Given the description of an element on the screen output the (x, y) to click on. 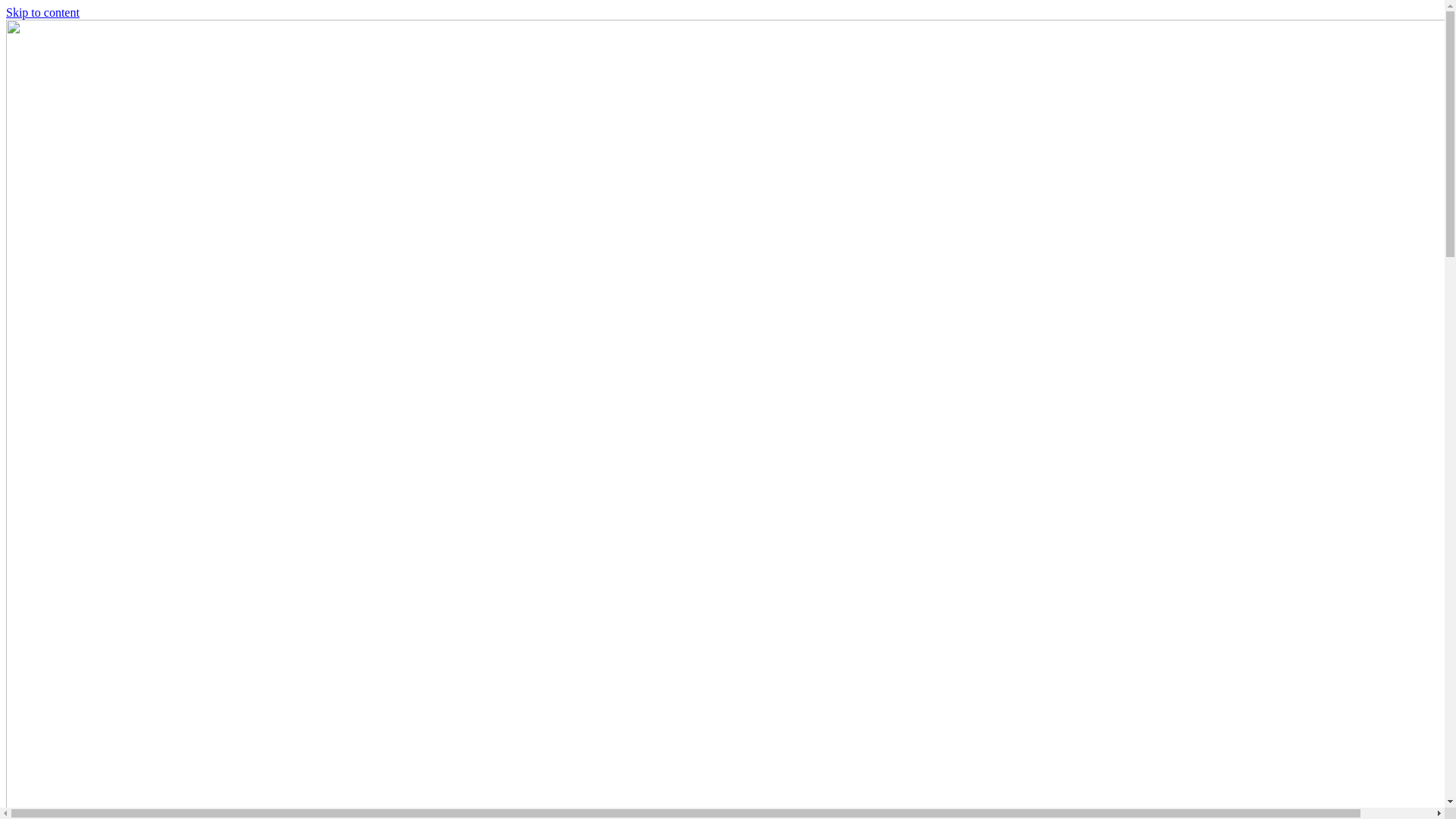
Skip to content Element type: text (42, 12)
